Given the description of an element on the screen output the (x, y) to click on. 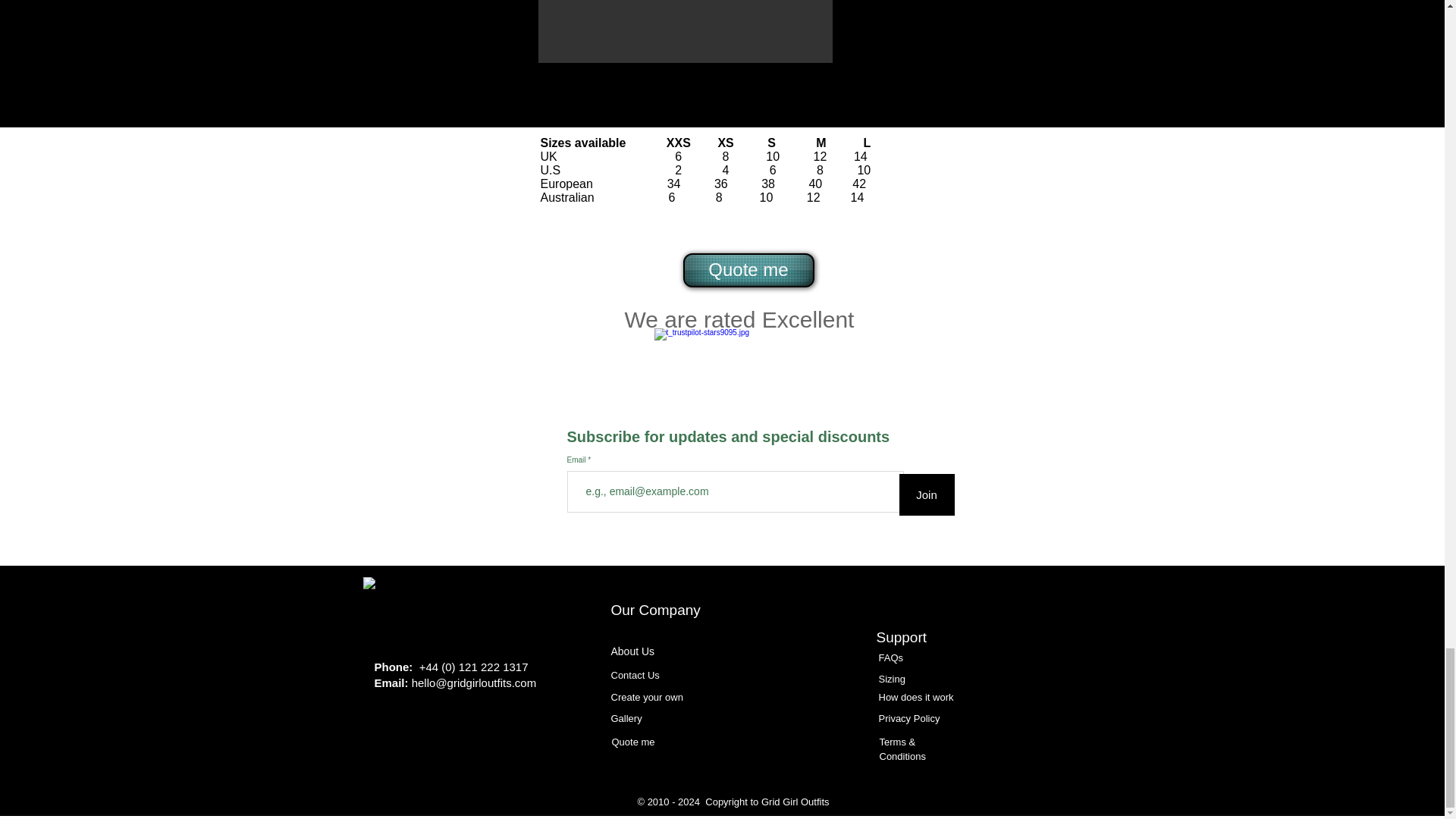
FAQs (889, 657)
About Us (633, 651)
Gallery (626, 717)
Quote me (747, 270)
Contact Us (635, 674)
Quote me (632, 741)
Sizing (890, 678)
Create your own (646, 696)
Join (927, 494)
Privacy Policy (908, 717)
How does it work (915, 696)
